Given the description of an element on the screen output the (x, y) to click on. 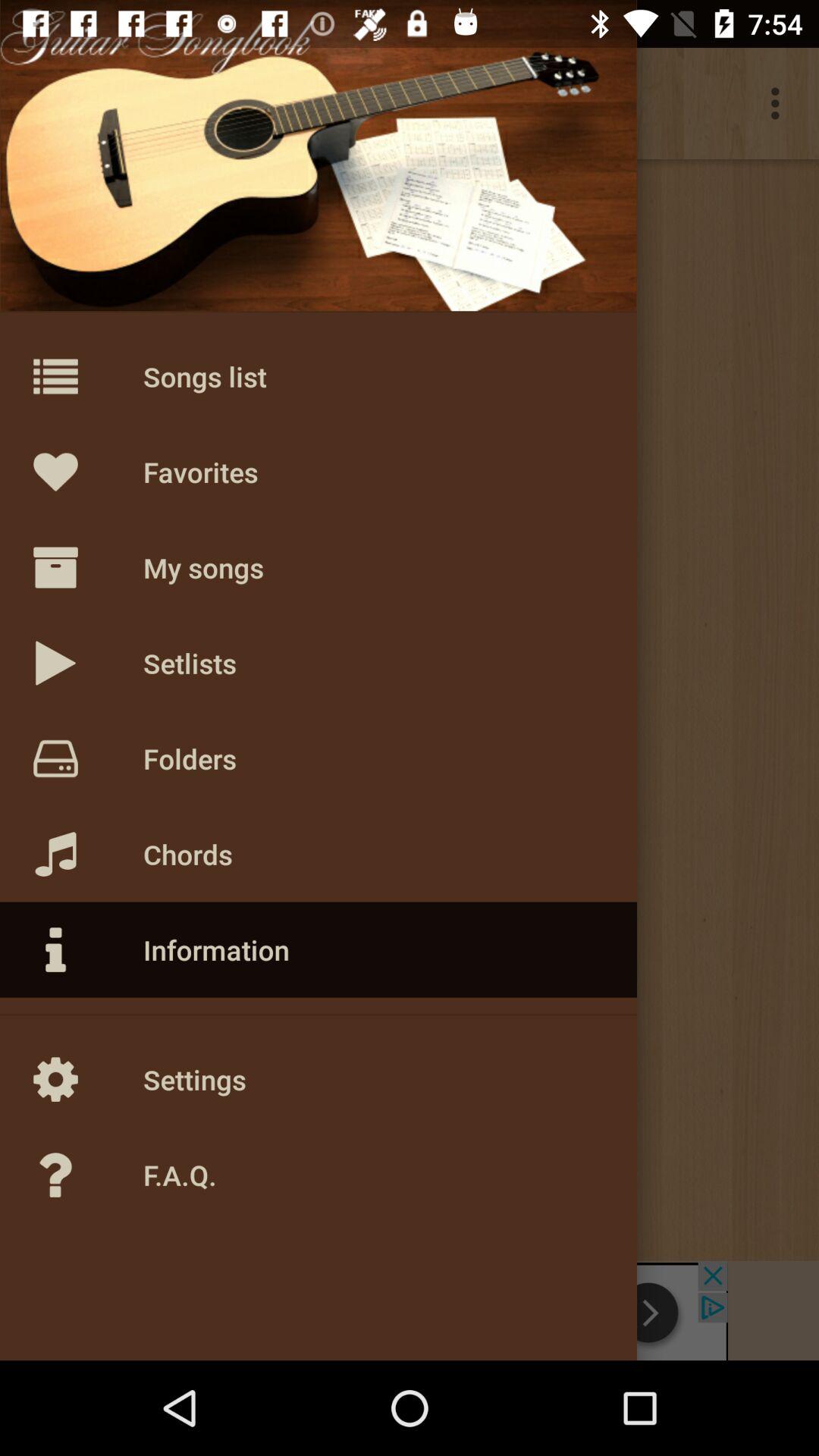
click on the faq icon (87, 1174)
click on the icon beside the text my songs (87, 567)
